Given the description of an element on the screen output the (x, y) to click on. 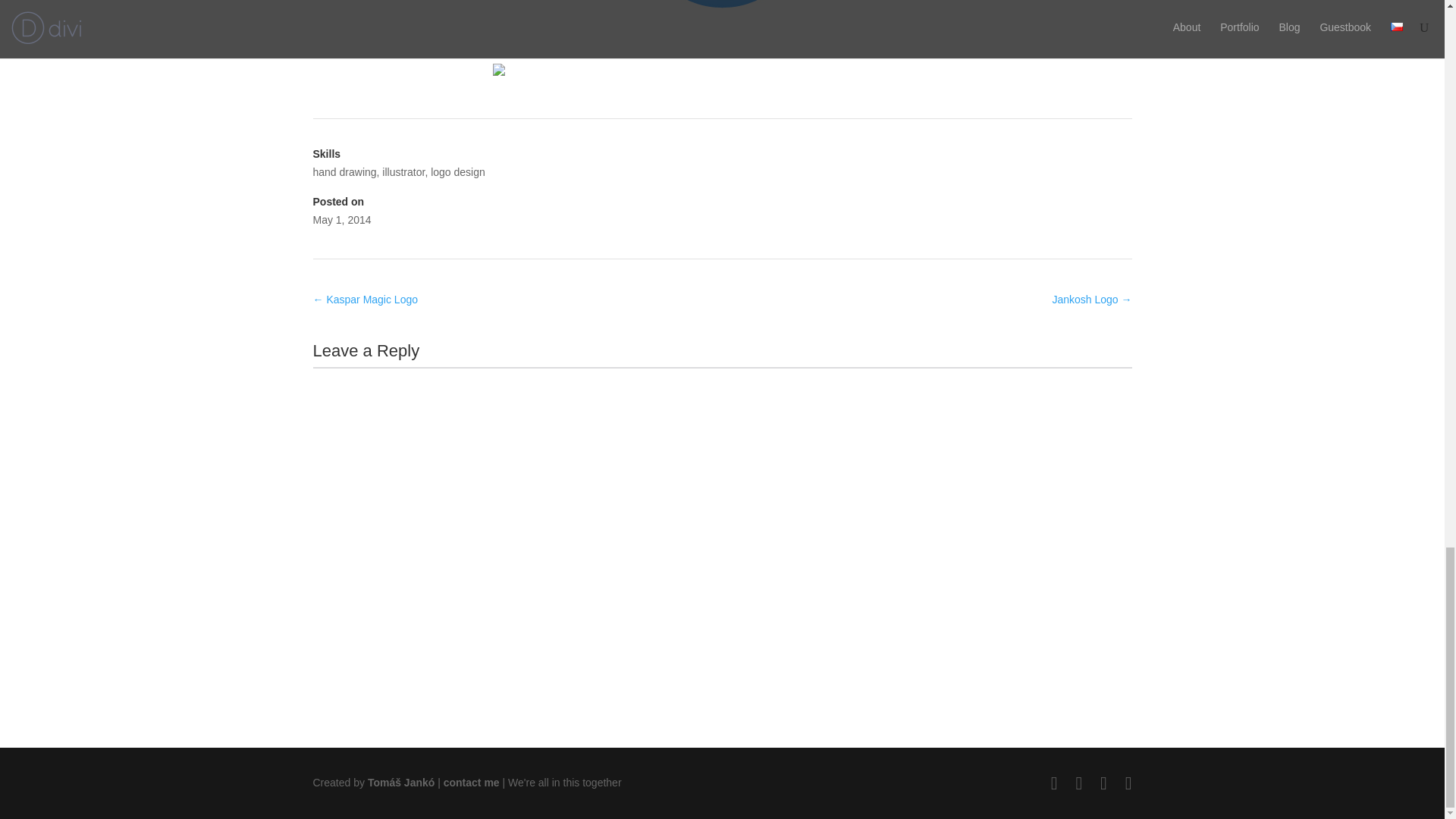
illustrator (403, 172)
logo design (457, 172)
contact me (471, 782)
hand drawing (344, 172)
